Given the description of an element on the screen output the (x, y) to click on. 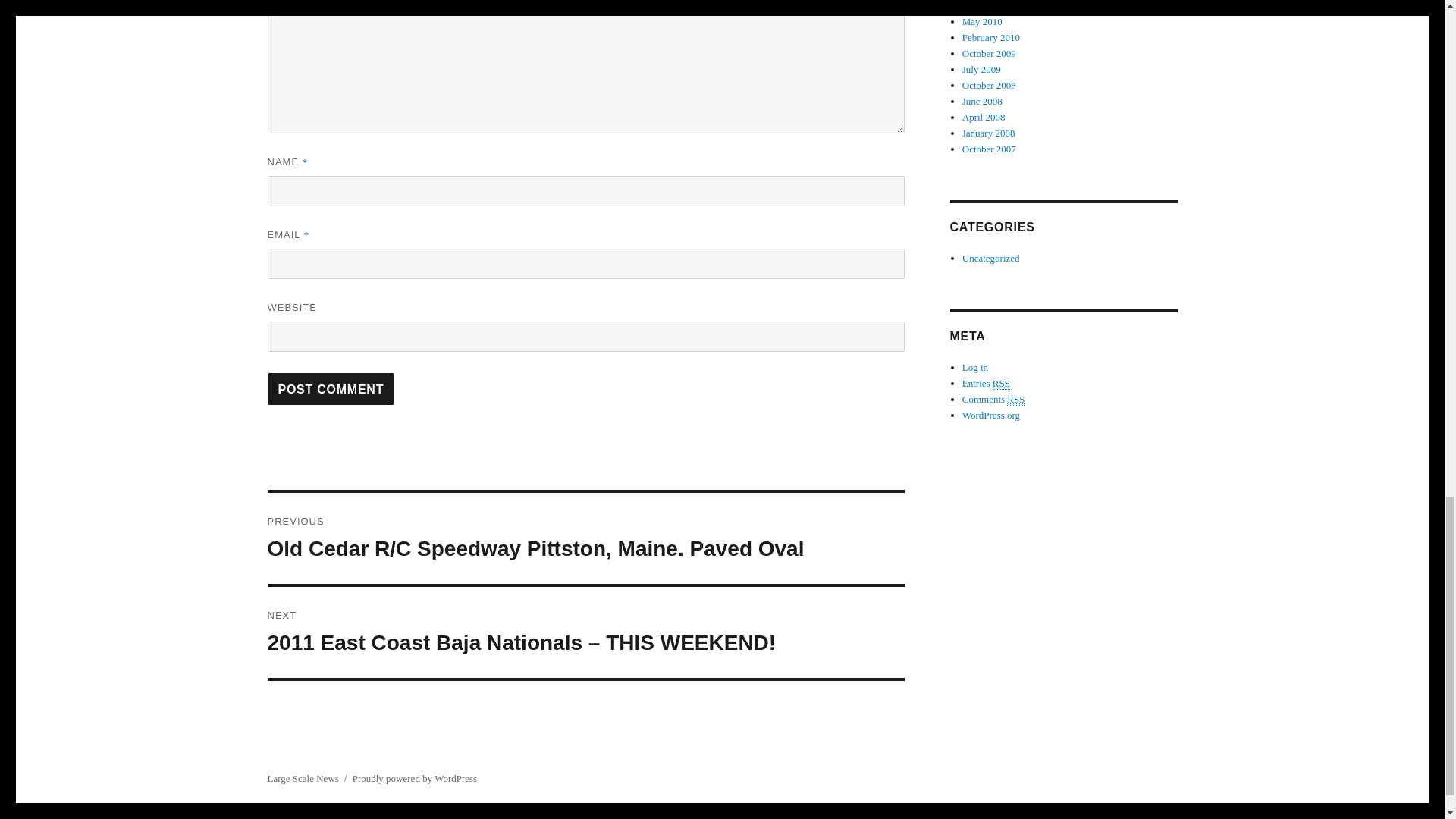
Really Simple Syndication (1016, 399)
Post Comment (330, 388)
Really Simple Syndication (1001, 383)
Post Comment (330, 388)
